Given the description of an element on the screen output the (x, y) to click on. 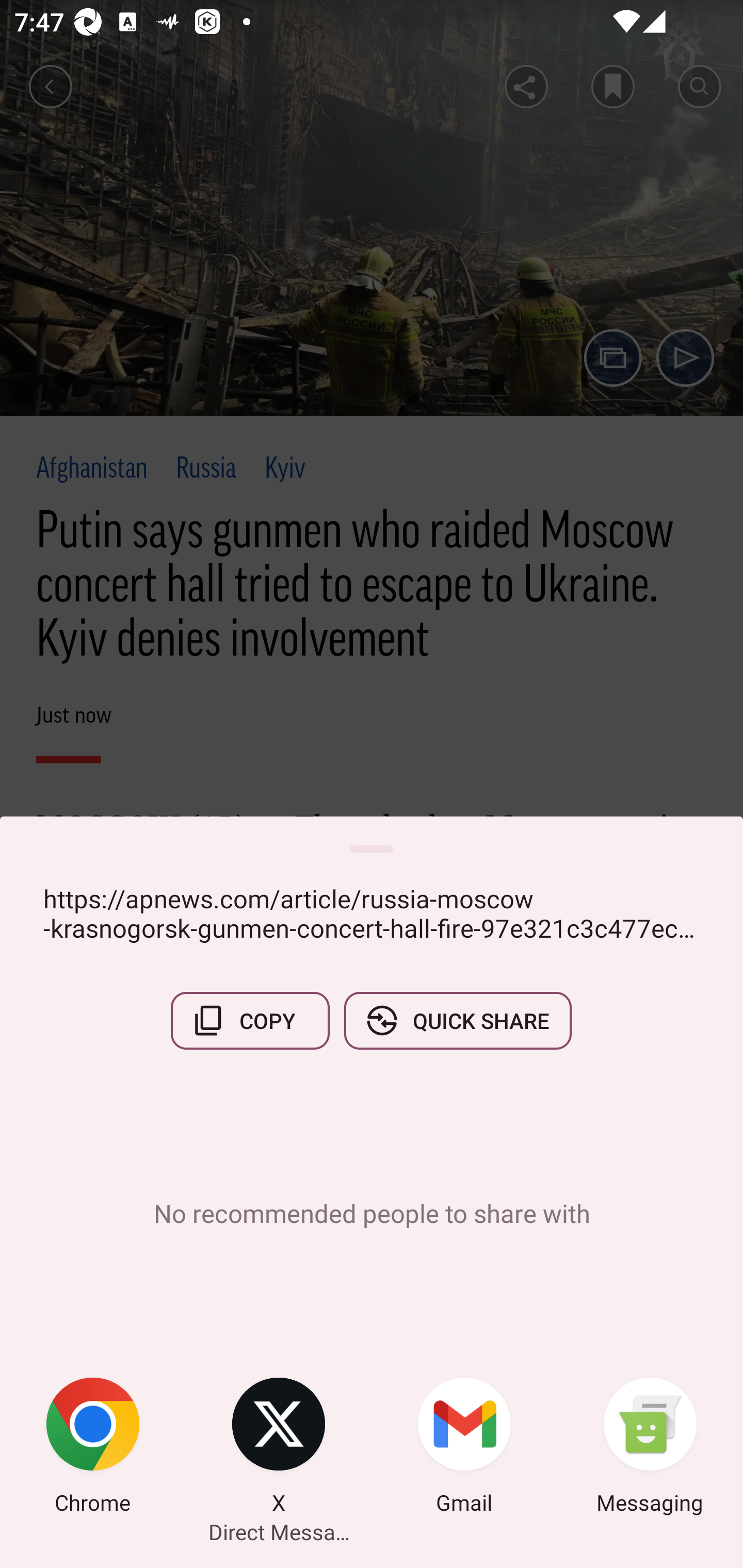
COPY (249, 1020)
QUICK SHARE (457, 1020)
Chrome (92, 1448)
X Direct Message (278, 1448)
Gmail (464, 1448)
Messaging (650, 1448)
